Given the description of an element on the screen output the (x, y) to click on. 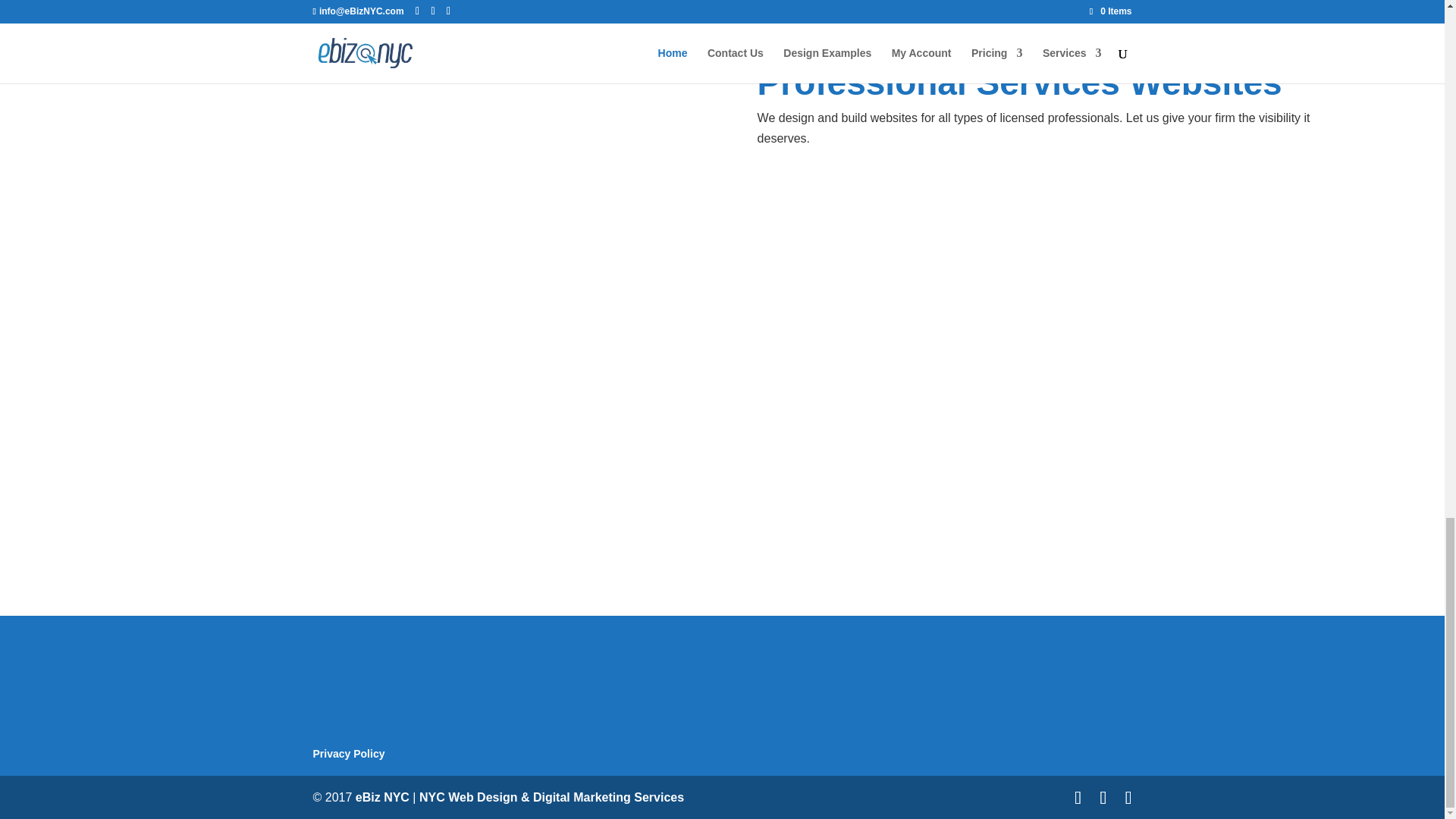
Professional Services Websites (1019, 96)
eBiz NYC (382, 797)
Web Design NYC and Digital Marketing NYC (551, 797)
